Given the description of an element on the screen output the (x, y) to click on. 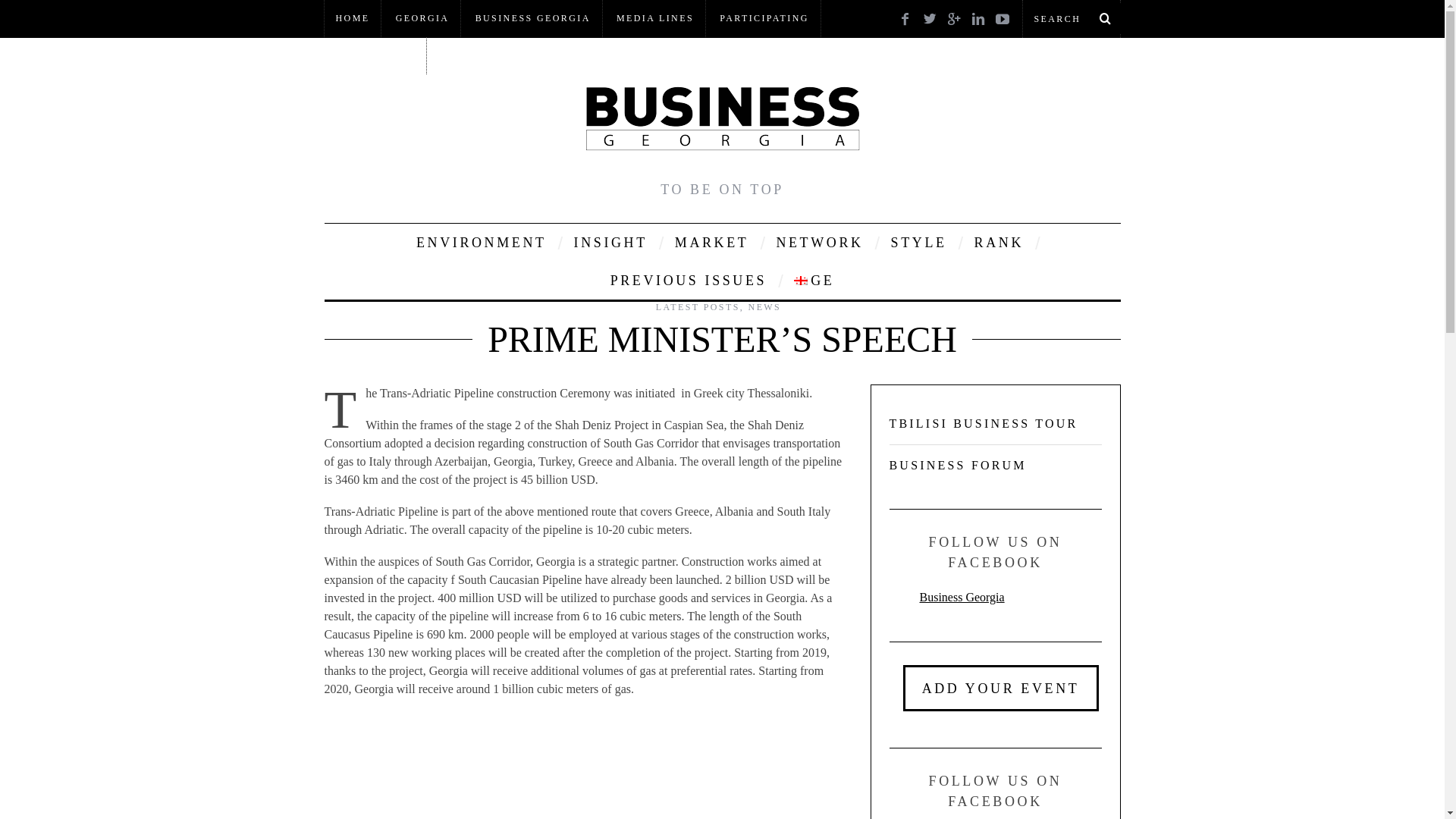
Search (1071, 18)
